Given the description of an element on the screen output the (x, y) to click on. 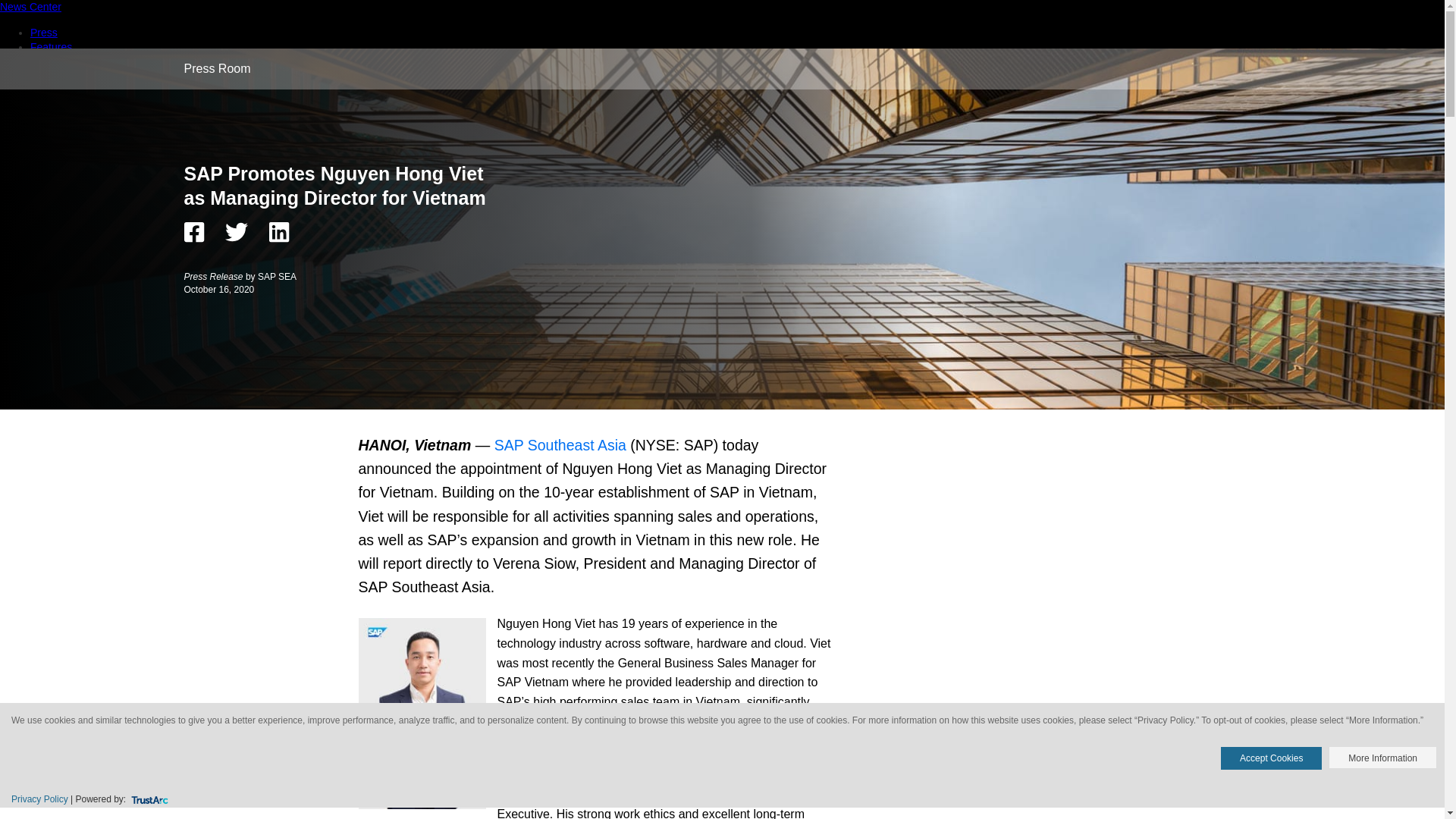
More Information (1382, 757)
SAP SEA (277, 276)
Press Room (216, 68)
Posts by SAP SEA (277, 276)
Privacy Policy (39, 798)
Press Release (213, 276)
SAP Southeast Asia (560, 444)
Press Room (216, 68)
Accept Cookies (1271, 757)
